Given the description of an element on the screen output the (x, y) to click on. 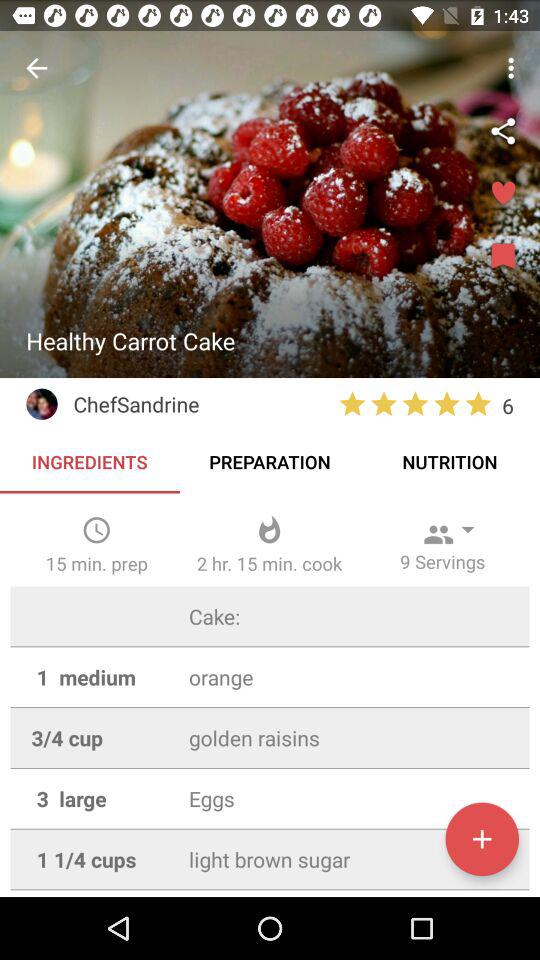
bookmark button (503, 257)
